Given the description of an element on the screen output the (x, y) to click on. 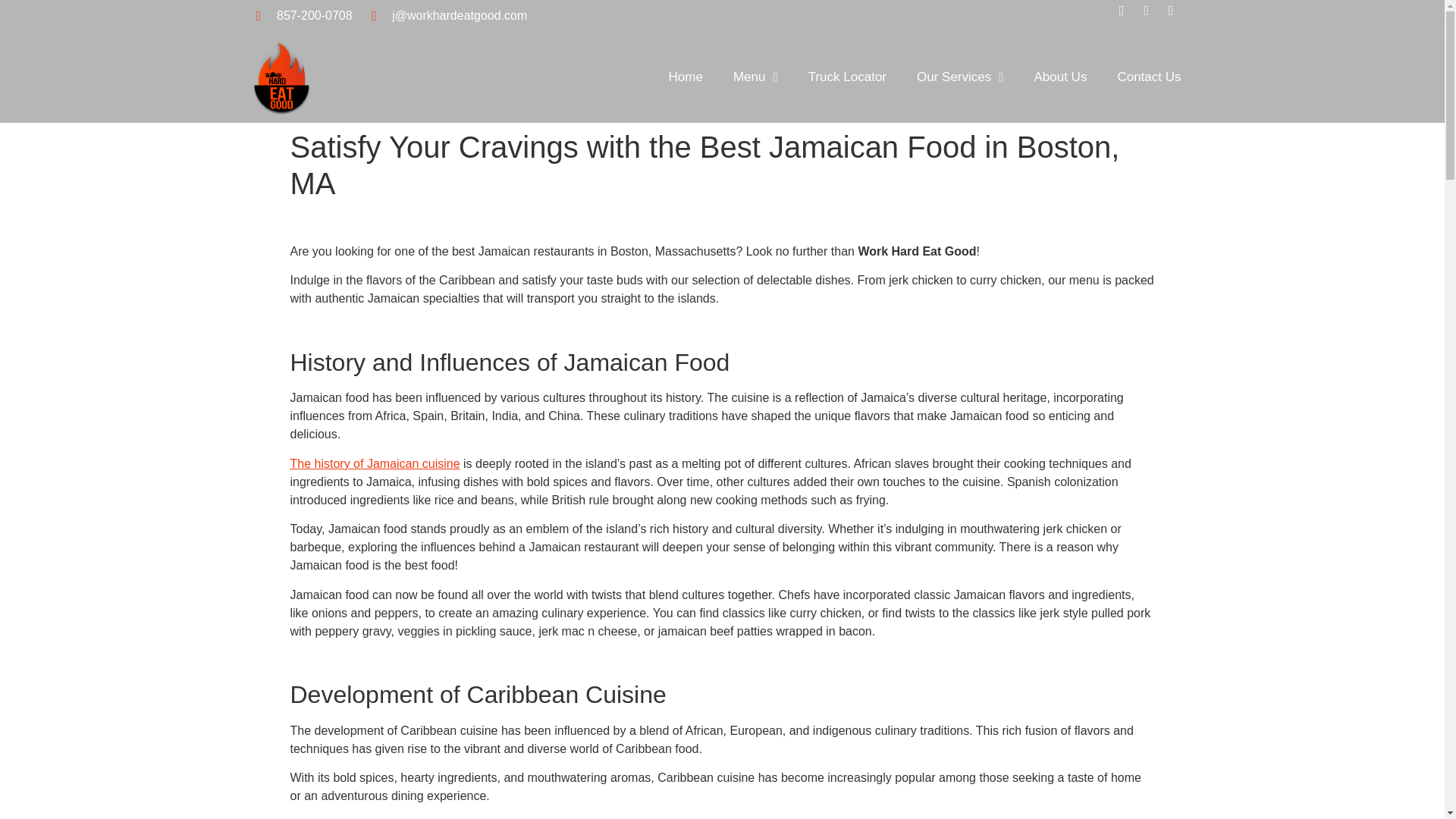
Contact Us (1148, 77)
The history of Jamaican cuisine (374, 463)
Menu (755, 77)
Home (685, 77)
857-200-0708 (304, 15)
Truck Locator (847, 77)
About Us (1059, 77)
Our Services (959, 77)
